Given the description of an element on the screen output the (x, y) to click on. 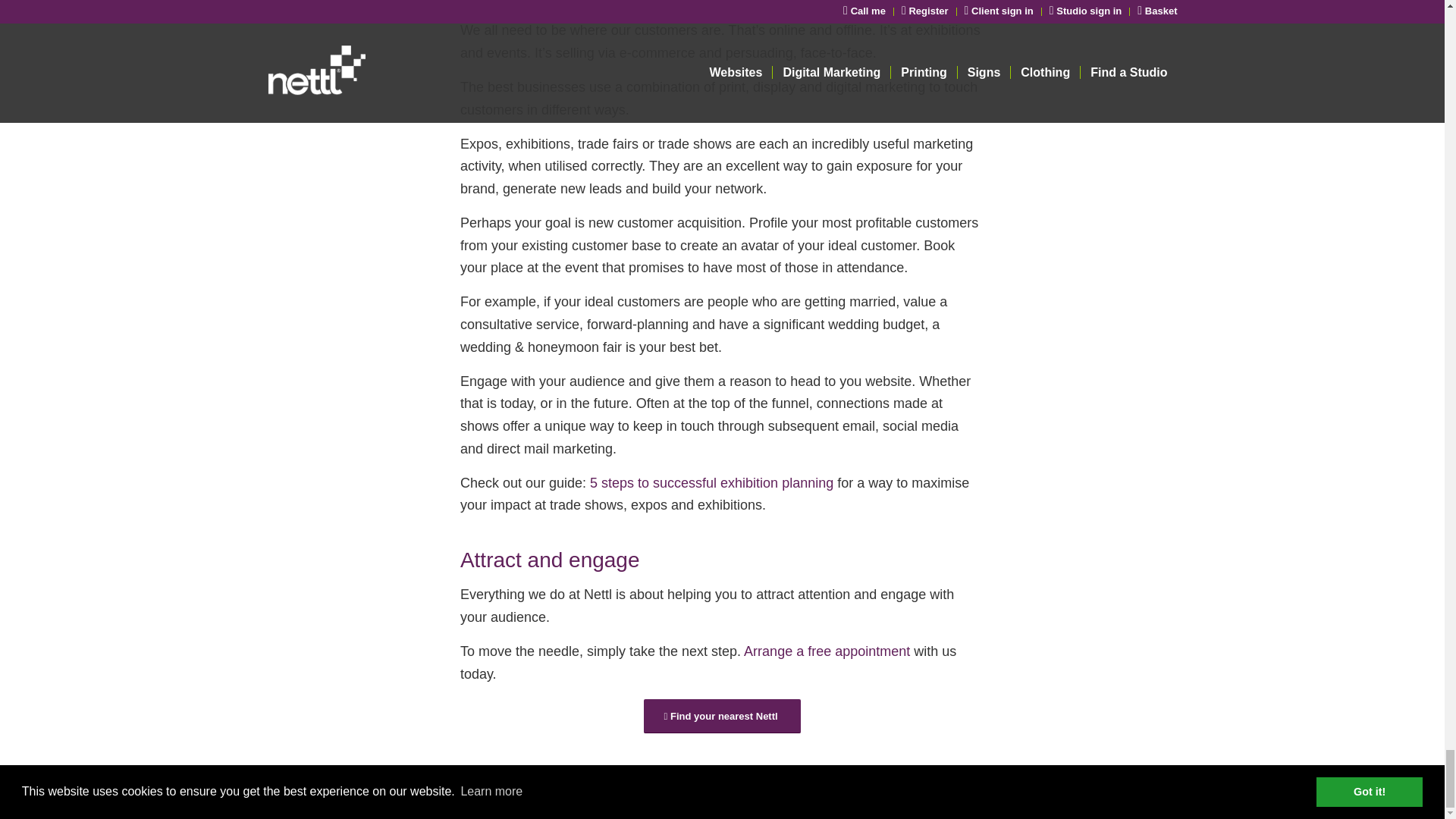
Facebook (1165, 792)
Instagram (1142, 792)
